Given the description of an element on the screen output the (x, y) to click on. 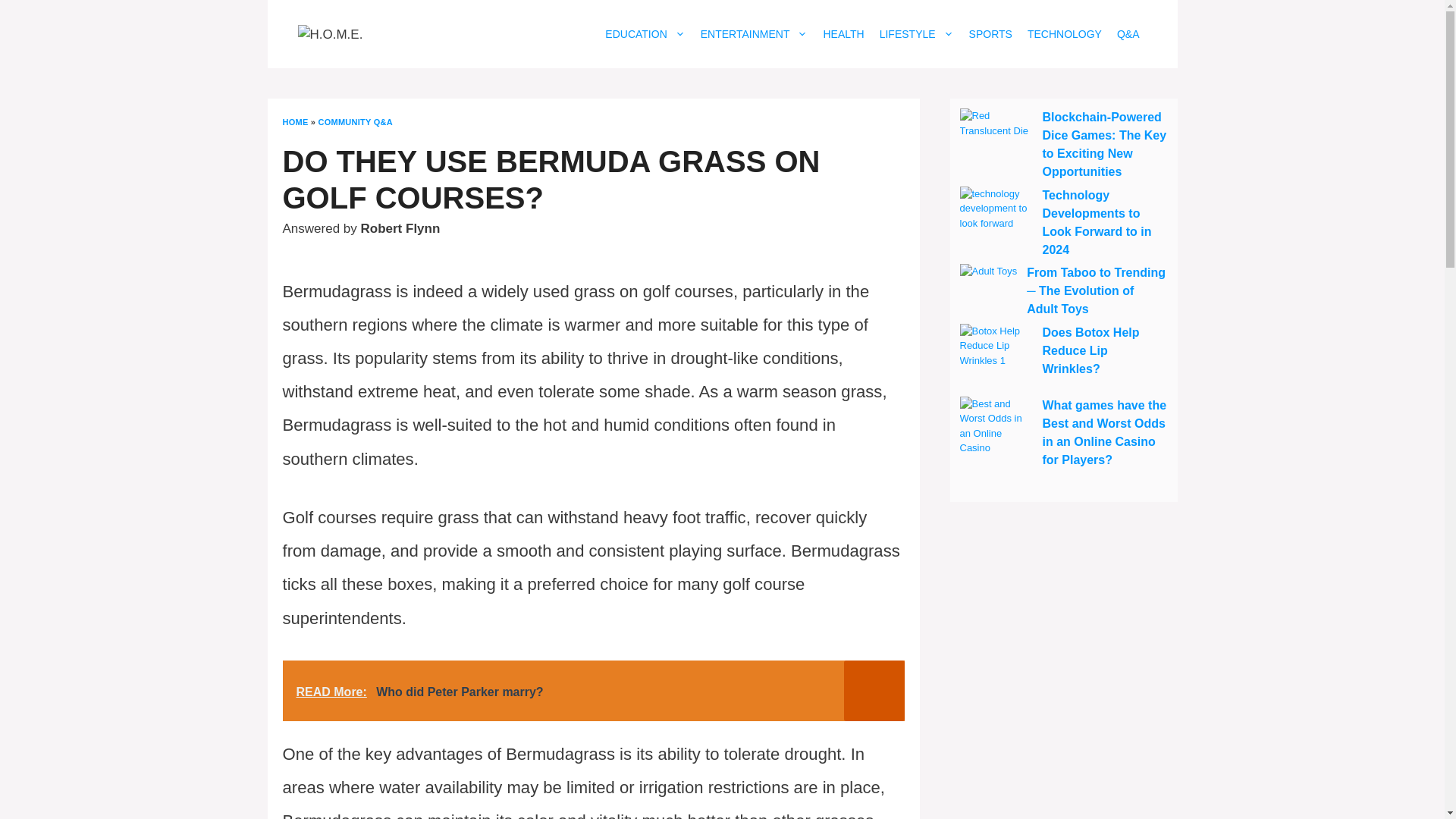
HEALTH (842, 34)
TECHNOLOGY (1064, 34)
Technology Developments to Look Forward to in 2024 2 (995, 222)
EDUCATION (644, 34)
SPORTS (990, 34)
LIFESTYLE (916, 34)
Does Botox Help Reduce Lip Wrinkles? 4 (995, 358)
ENTERTAINMENT (754, 34)
